Given the description of an element on the screen output the (x, y) to click on. 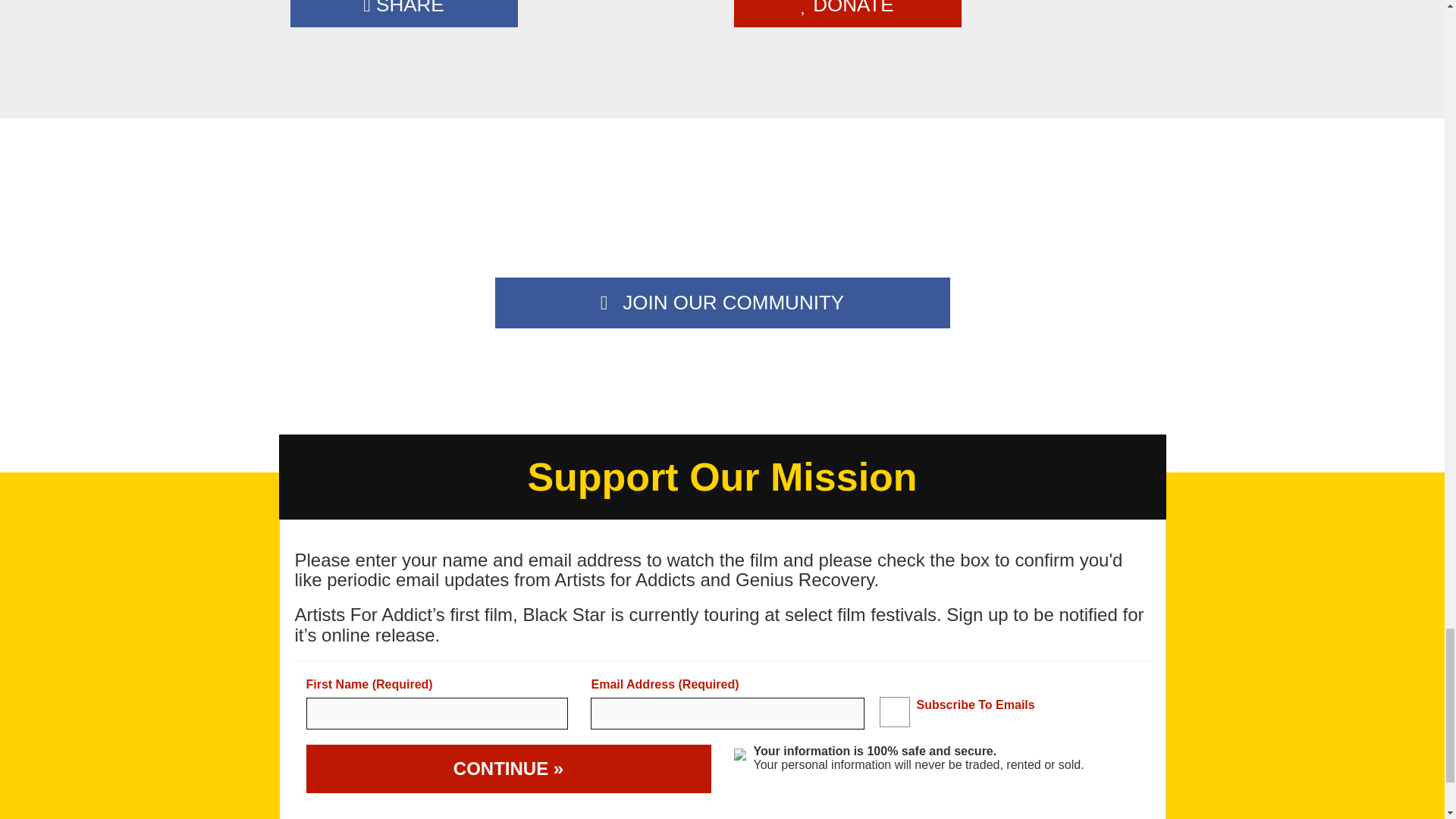
SHARE (402, 13)
JOIN OUR COMMUNITY (722, 302)
DONATE (846, 13)
